Given the description of an element on the screen output the (x, y) to click on. 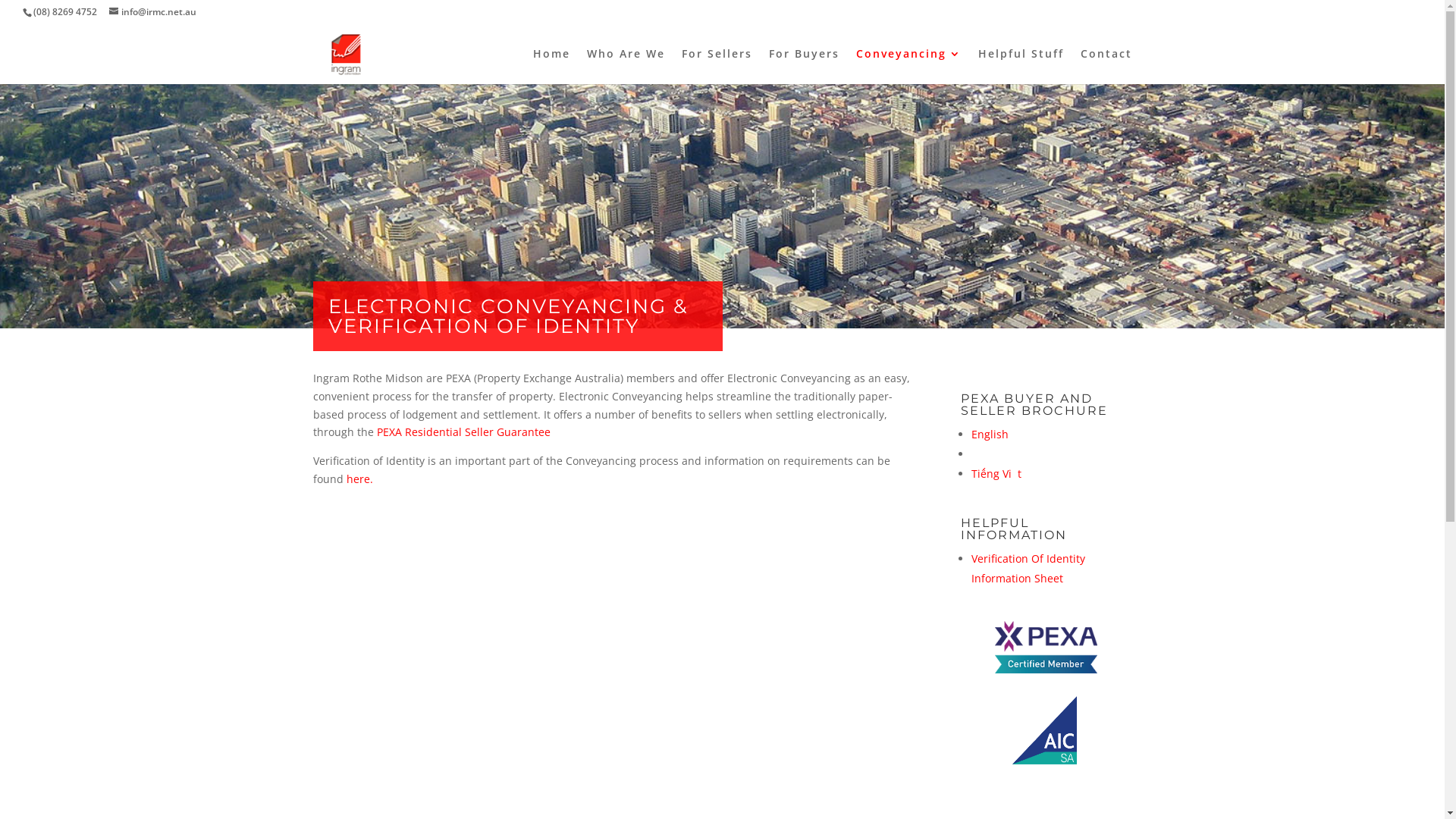
For Buyers Element type: text (803, 66)
Home Element type: text (550, 66)
Who Are We Element type: text (625, 66)
Contact Element type: text (1105, 66)
(08) 8269 4752 Element type: text (65, 11)
here. Element type: text (358, 478)
info@irmc.net.au Element type: text (152, 11)
English Element type: text (989, 433)
Verification Of Identity Information Sheet Element type: text (1028, 568)
Helpful Stuff Element type: text (1020, 66)
Conveyancing Element type: text (907, 66)
PEXA Residential Seller Guarantee Element type: text (462, 431)
For Sellers Element type: text (715, 66)
